Given the description of an element on the screen output the (x, y) to click on. 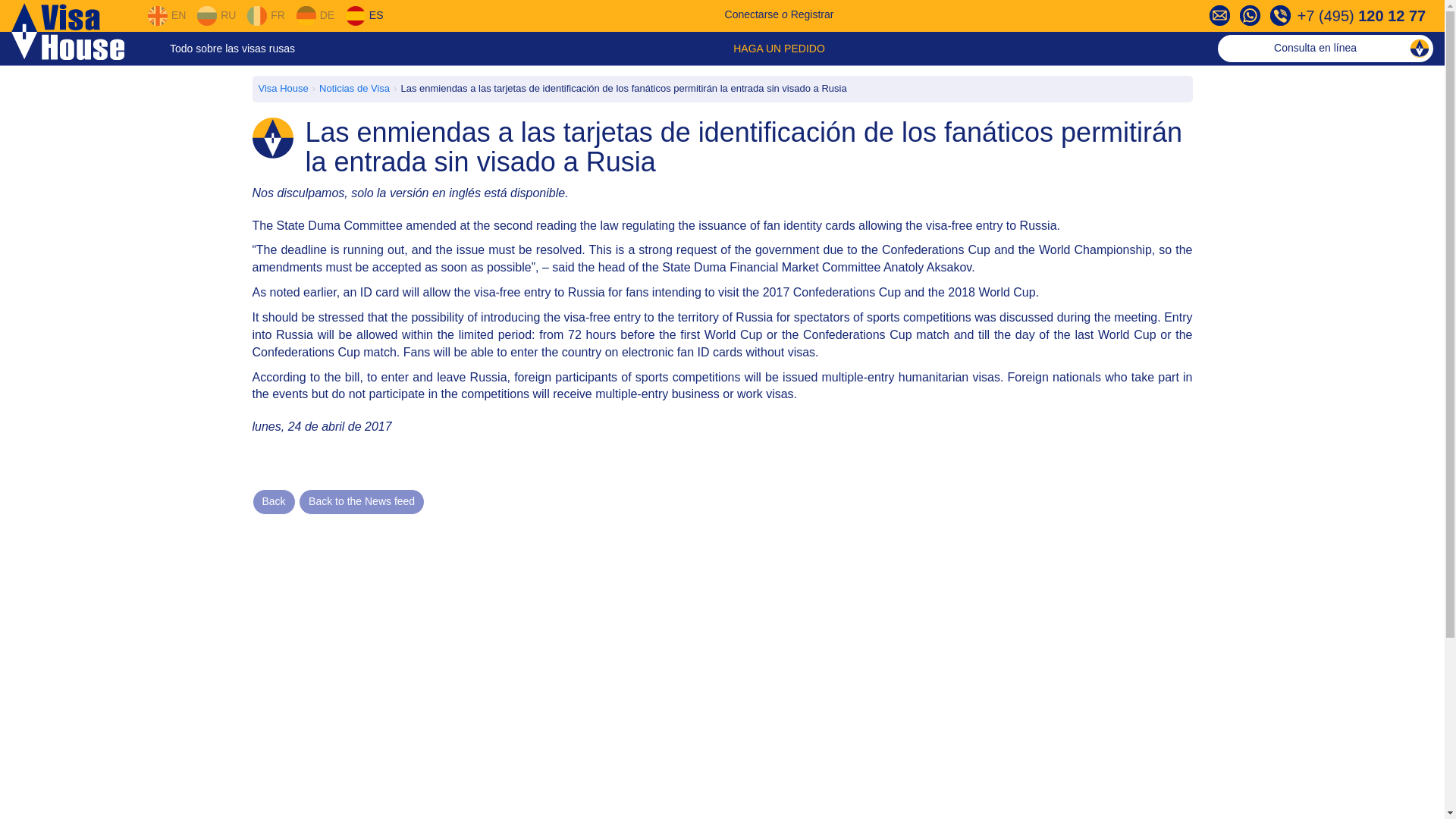
DE (314, 15)
EN (166, 15)
Todo sobre las visas rusas (232, 48)
Conectarse (751, 14)
ES (364, 15)
FR (265, 15)
RU (215, 15)
Registrar (812, 14)
HAGA UN PEDIDO (779, 48)
